Given the description of an element on the screen output the (x, y) to click on. 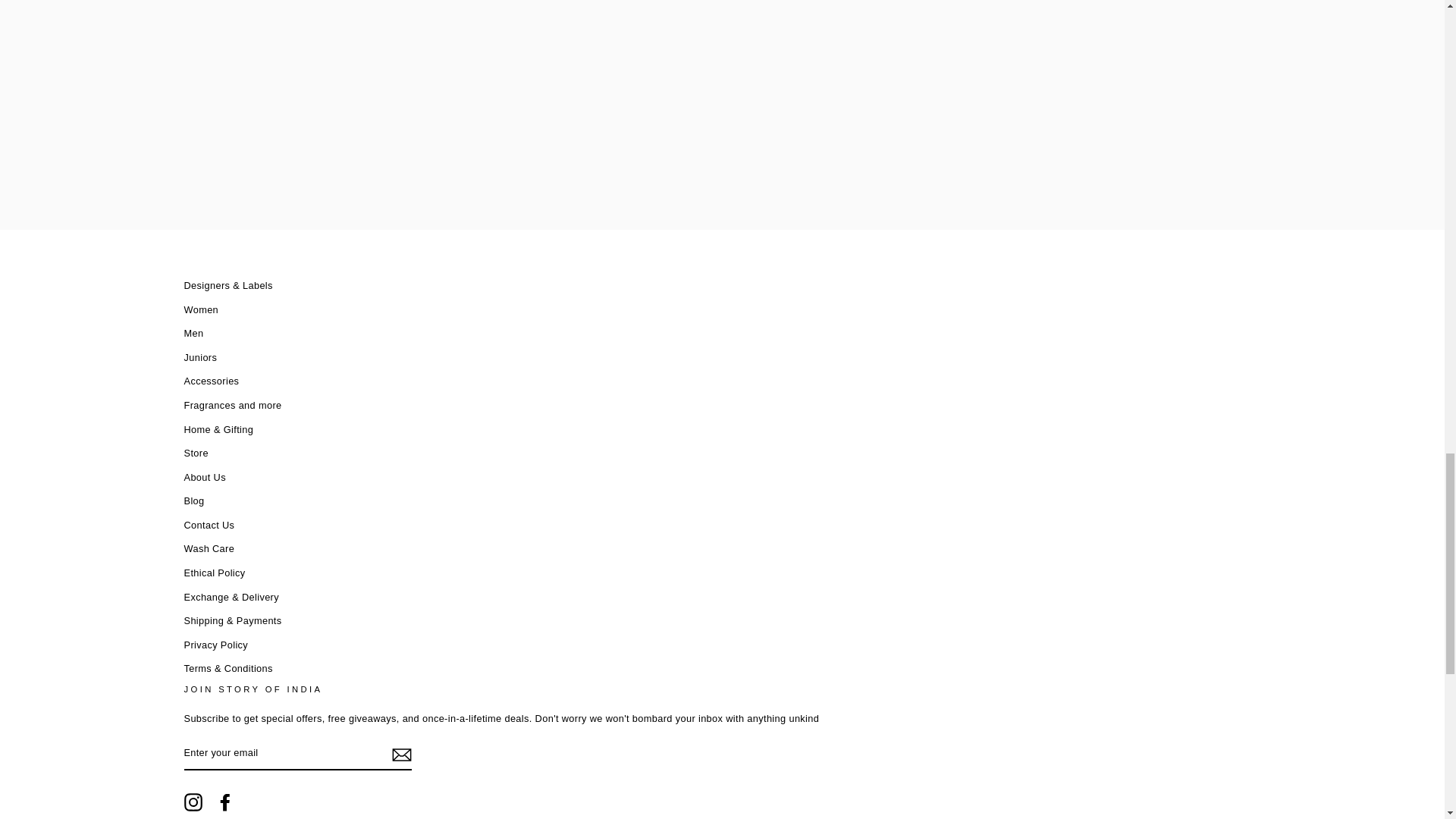
Story Of India on Instagram (192, 802)
Story Of India on Facebook (224, 802)
